Given the description of an element on the screen output the (x, y) to click on. 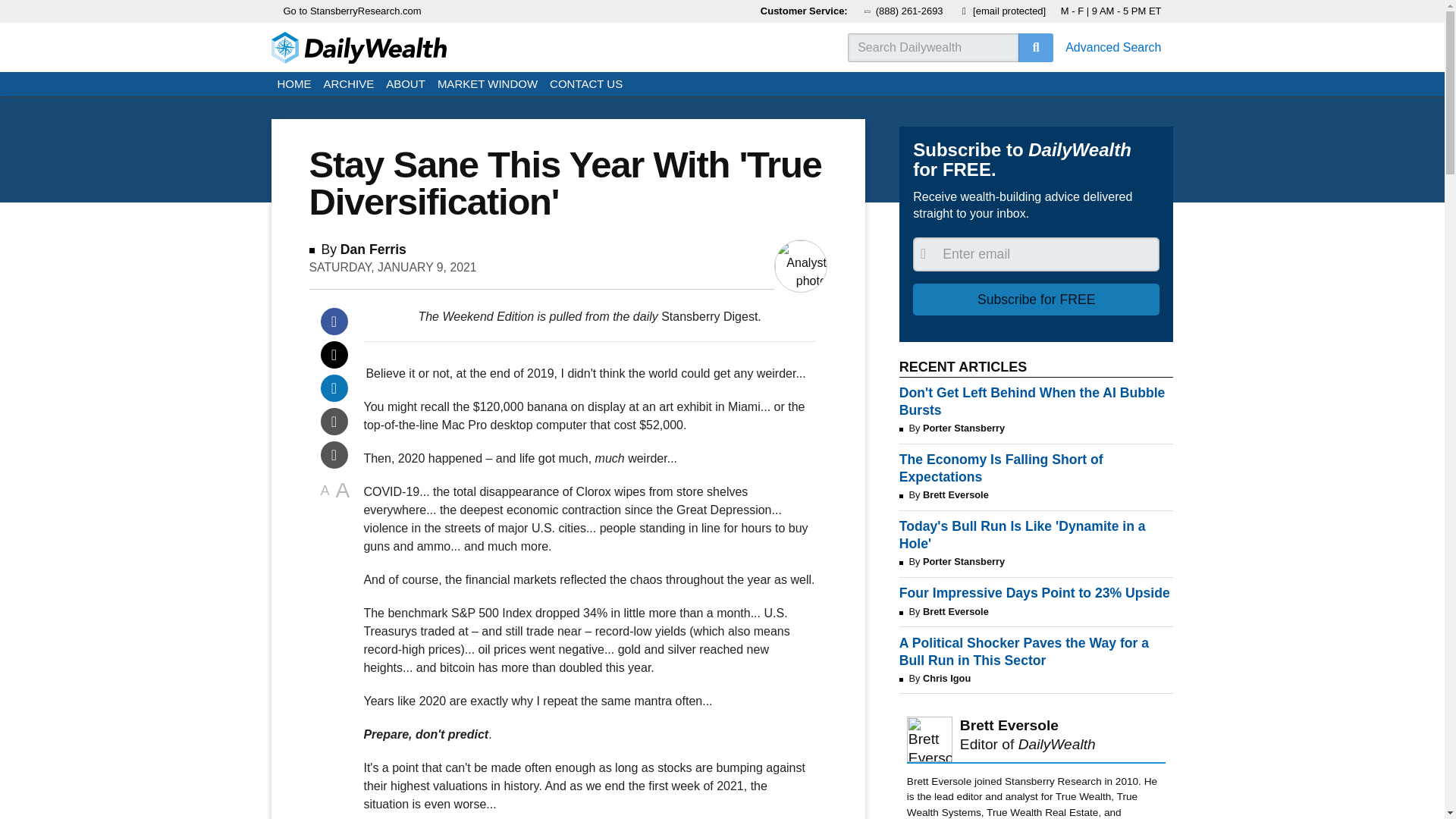
ARCHIVE (348, 84)
Advanced Search (1112, 46)
ABOUT (405, 84)
Go to StansberryResearch.com (352, 11)
Subscribe for FREE (1035, 299)
HOME (293, 84)
Today's Bull Run Is Like 'Dynamite in a Hole' (1036, 534)
Don't Get Left Behind When the AI Bubble Bursts (1036, 401)
The Economy Is Falling Short of Expectations (1036, 468)
MARKET WINDOW (486, 84)
CONTACT US (585, 84)
